Given the description of an element on the screen output the (x, y) to click on. 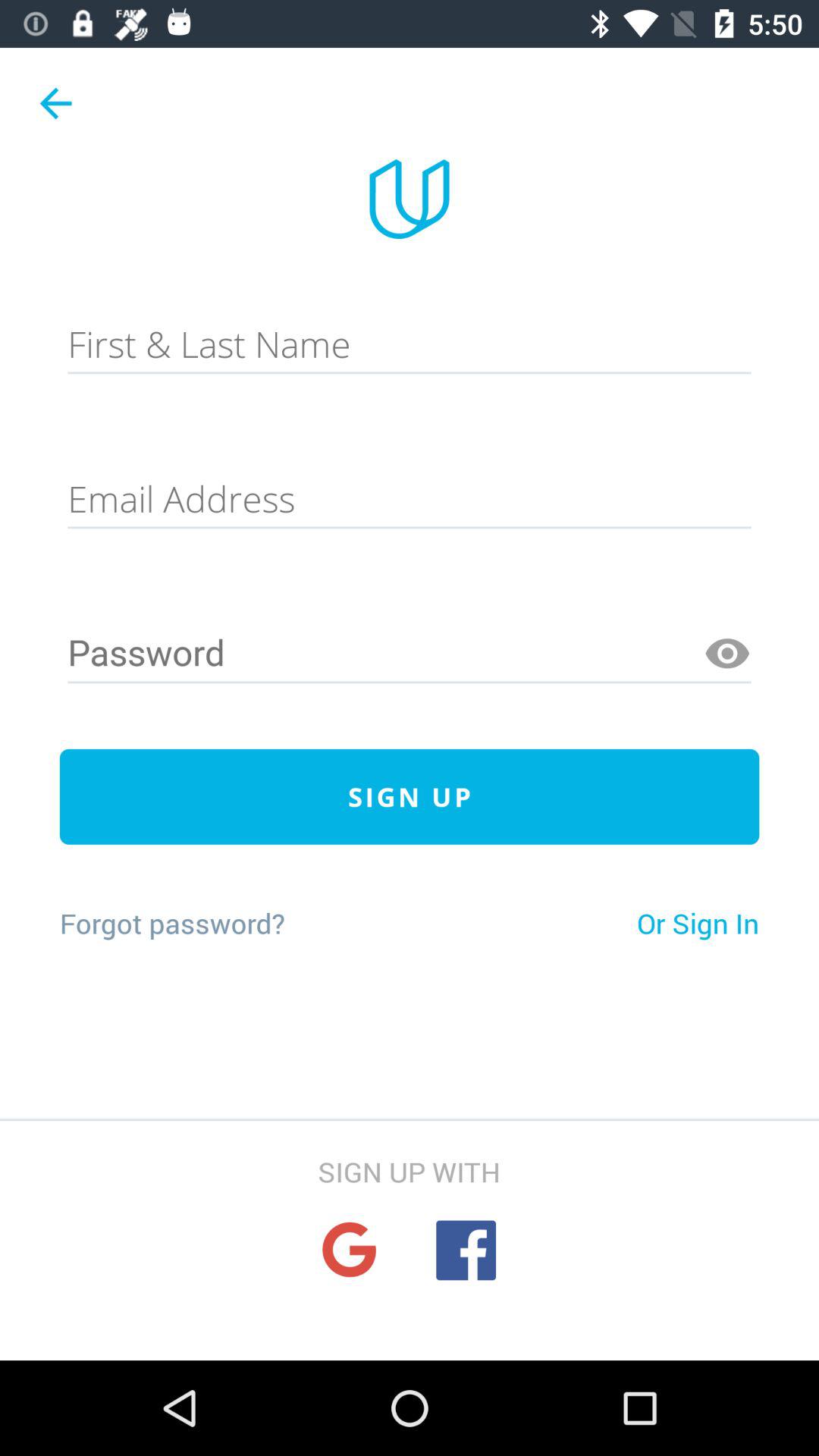
sign up using google (348, 1249)
